Given the description of an element on the screen output the (x, y) to click on. 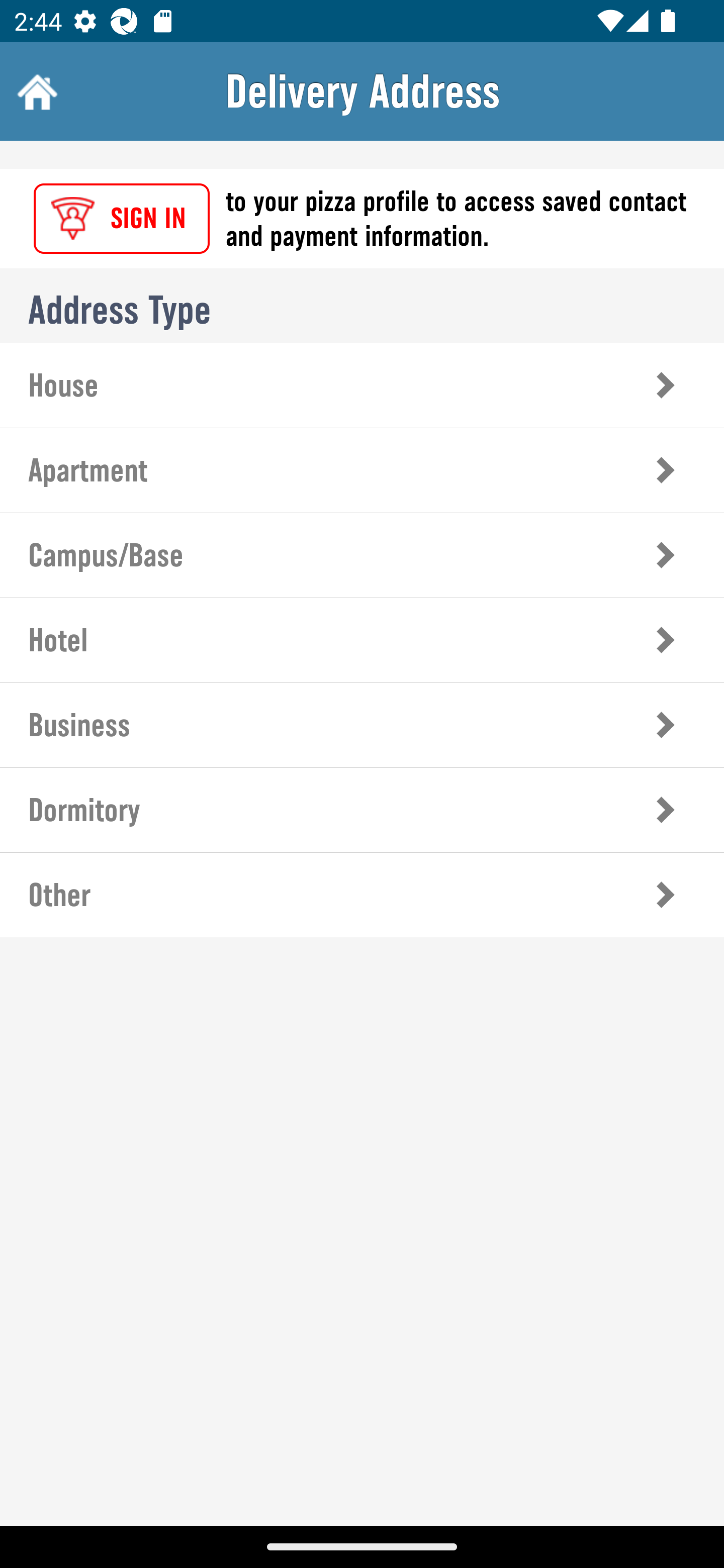
Home (35, 91)
SIGN IN (121, 218)
1 of 7, House House Address Details (362, 385)
2 of 7, Apartment Apartment Address Details (362, 470)
3 of 7, Campus/Base Campus/Base Address Details (362, 554)
4 of 7, Hotel Hotel Address Details (362, 639)
5 of 7, Business Business Address Details (362, 724)
6 of 7, Dormitory Dormitory Address Details (362, 810)
7 of 7, Other Other Address Details (362, 894)
